Given the description of an element on the screen output the (x, y) to click on. 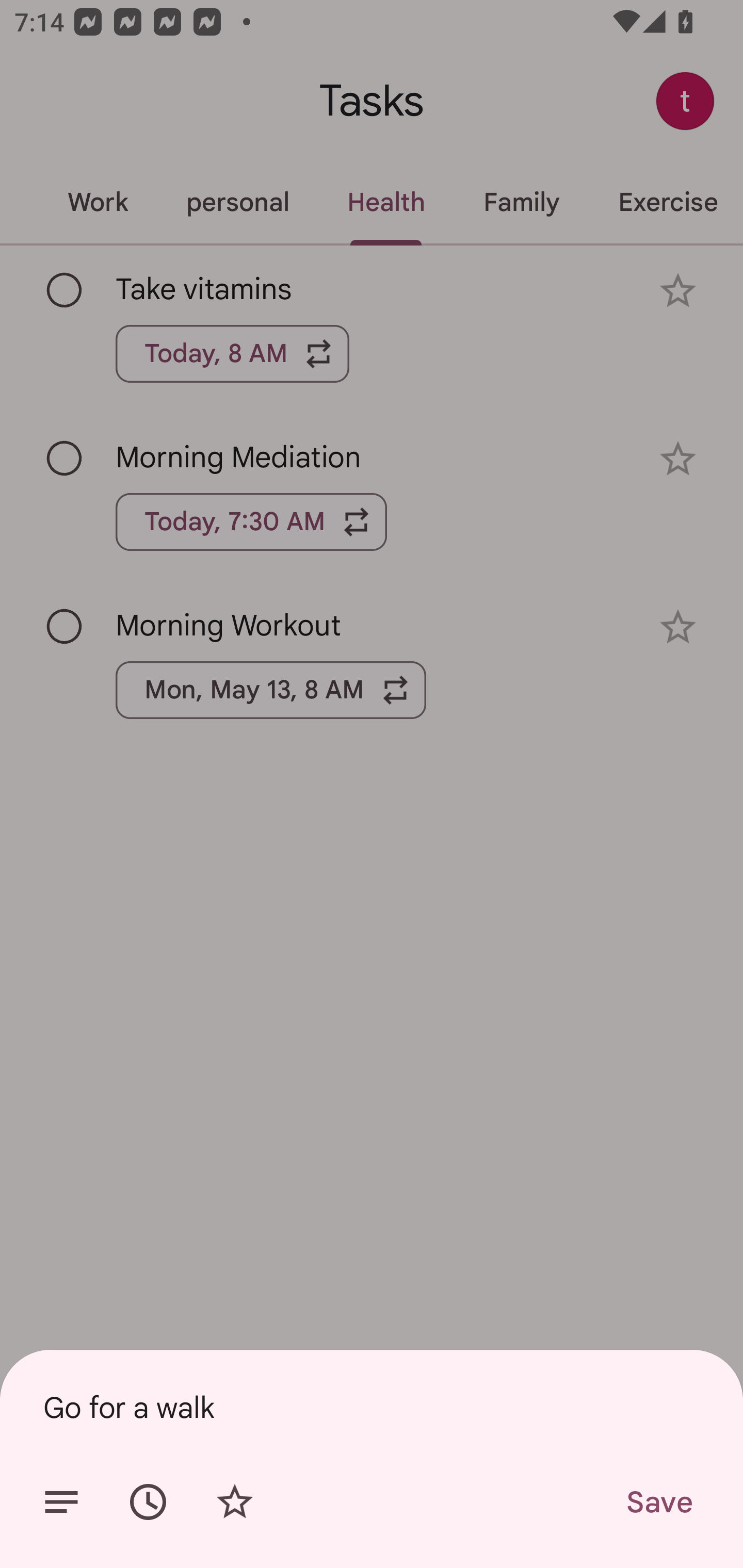
Go for a walk (371, 1407)
Save (659, 1501)
Add details (60, 1501)
Set date/time (147, 1501)
Add star (234, 1501)
